Given the description of an element on the screen output the (x, y) to click on. 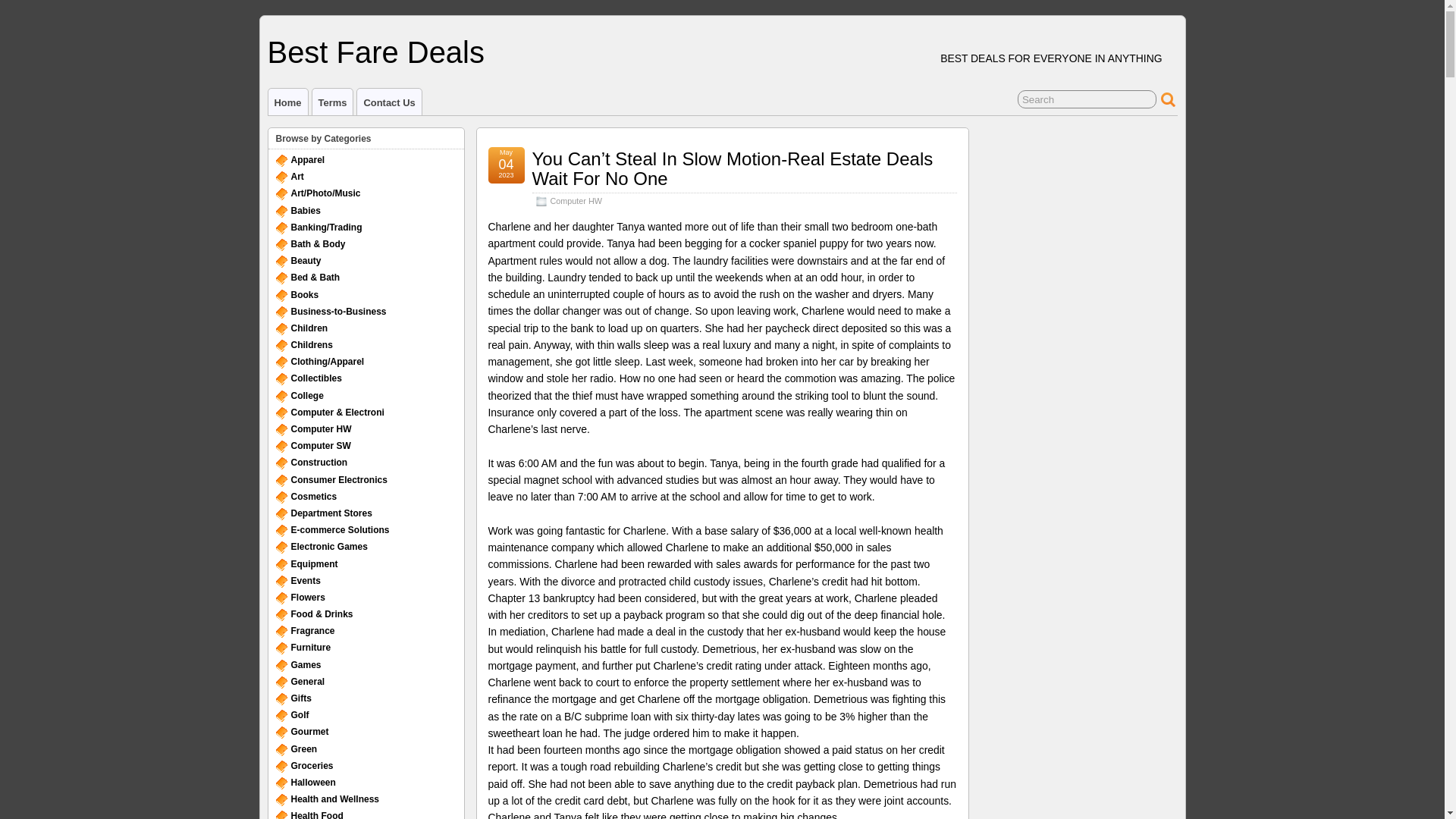
Search (1086, 99)
Consumer Electronics (339, 480)
Computer SW (320, 445)
Childrens (312, 344)
Contact Us (388, 101)
Department Stores (331, 512)
Babies (305, 210)
Search (1086, 99)
Best Fare Deals (374, 52)
Books (304, 294)
Computer HW (576, 200)
Beauty (306, 260)
Terms (333, 101)
Home (287, 101)
College (307, 395)
